Given the description of an element on the screen output the (x, y) to click on. 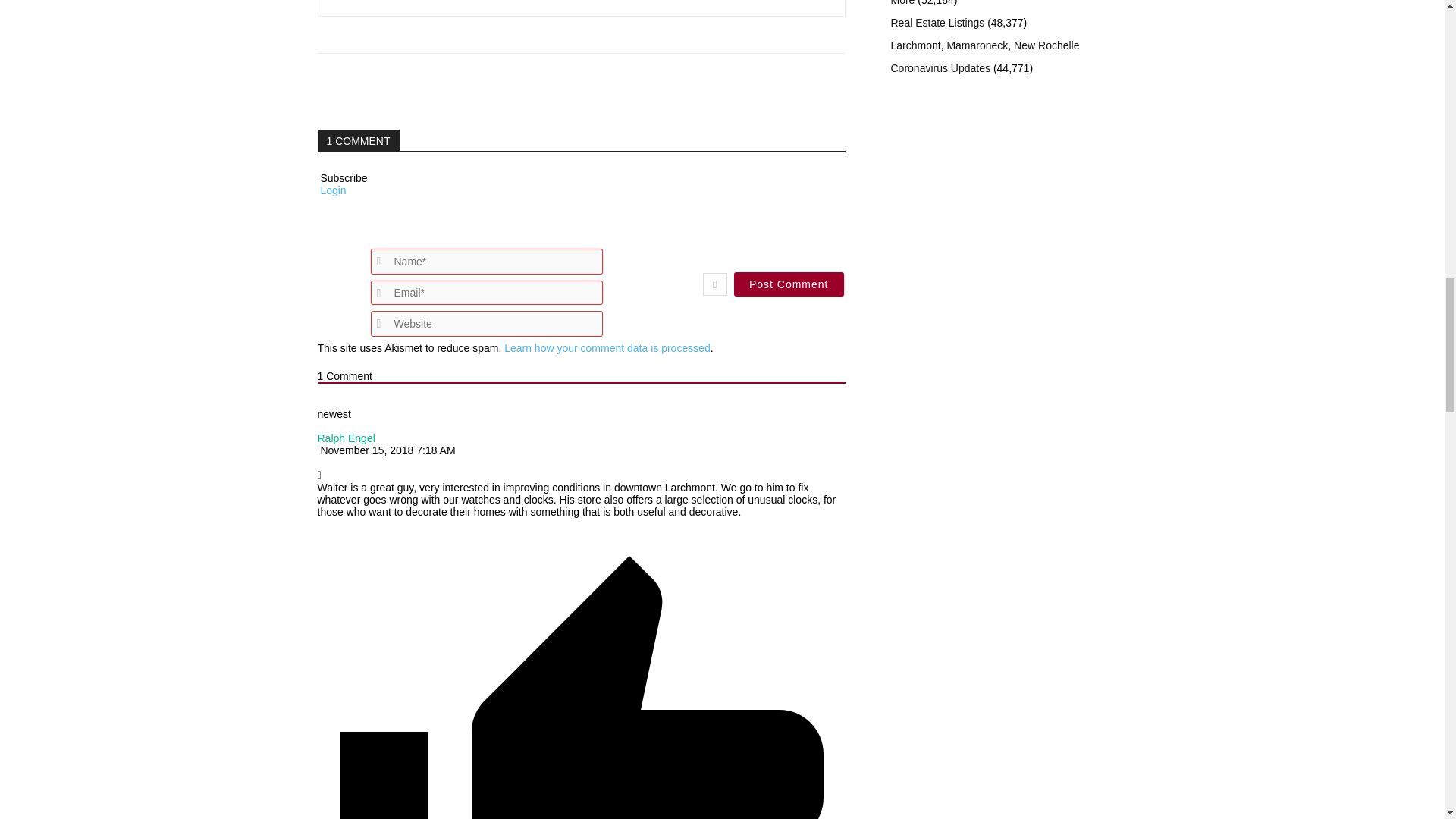
Post Comment (788, 283)
